Given the description of an element on the screen output the (x, y) to click on. 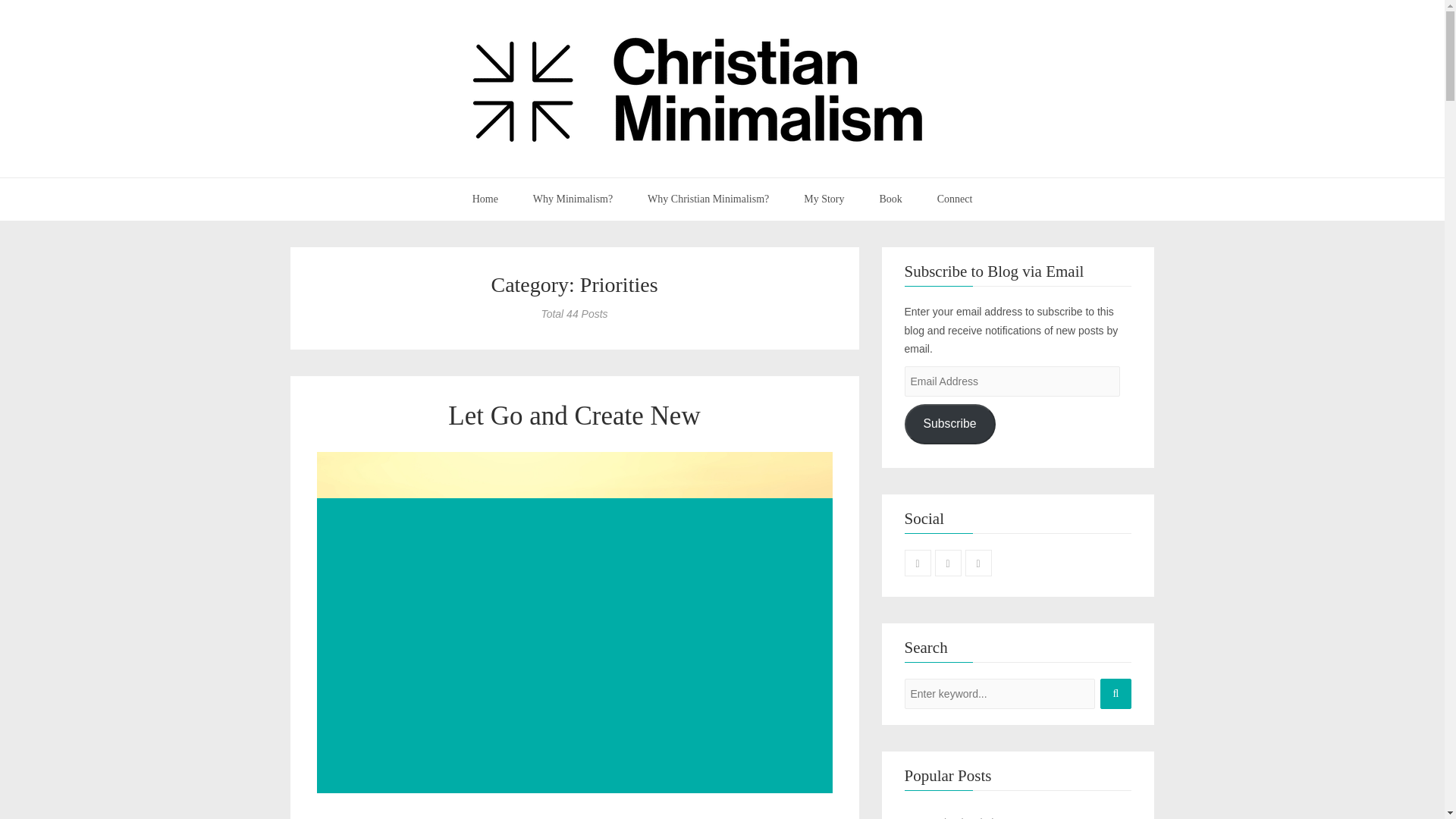
Connect (954, 199)
Book (890, 199)
Home (485, 199)
Let Go and Create New (574, 415)
Why Minimalism? (572, 199)
My Story (823, 199)
Why Christian Minimalism? (707, 199)
